Given the description of an element on the screen output the (x, y) to click on. 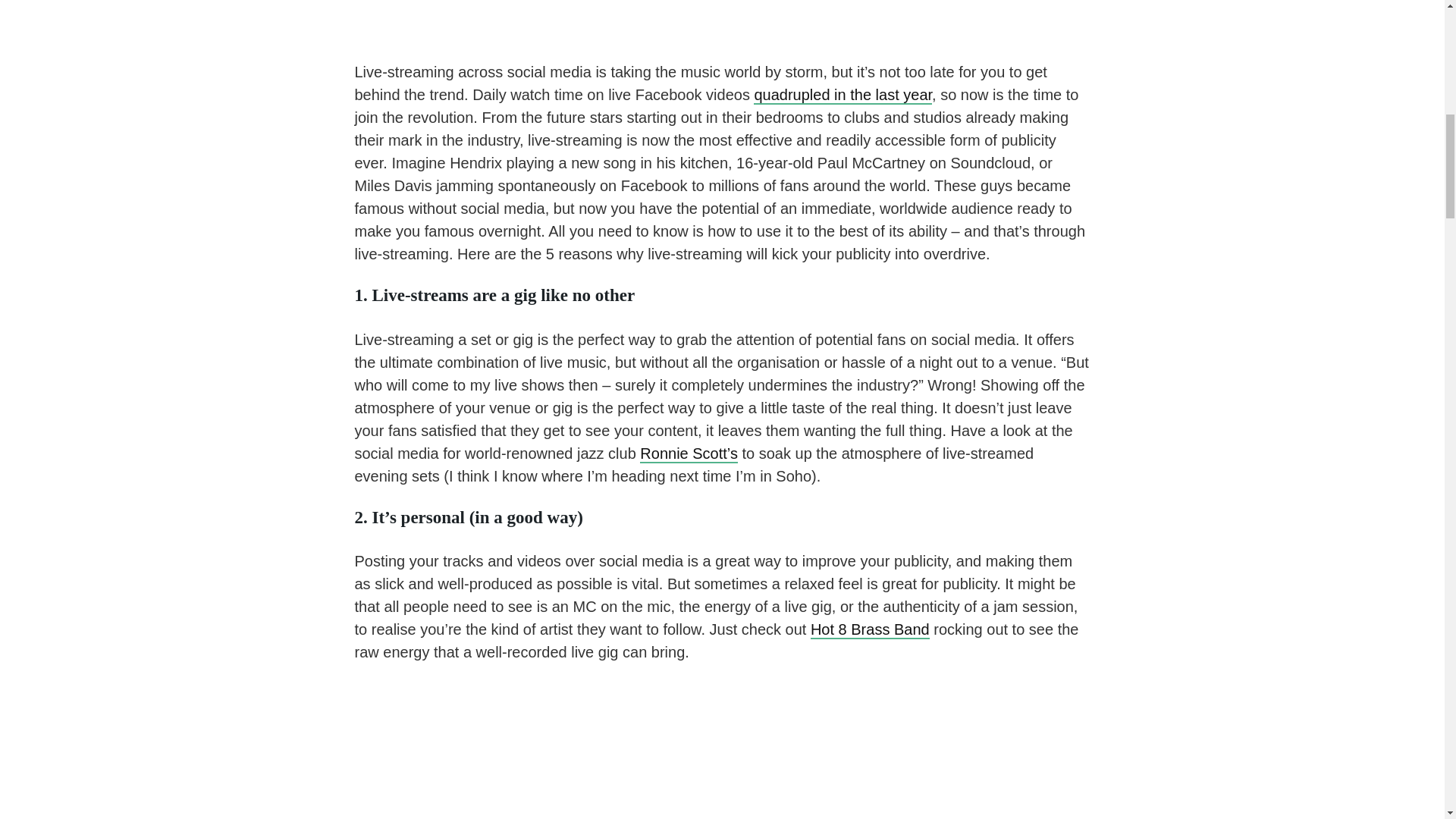
quadrupled in the last year (842, 95)
Hot 8 Brass Band (870, 629)
